Given the description of an element on the screen output the (x, y) to click on. 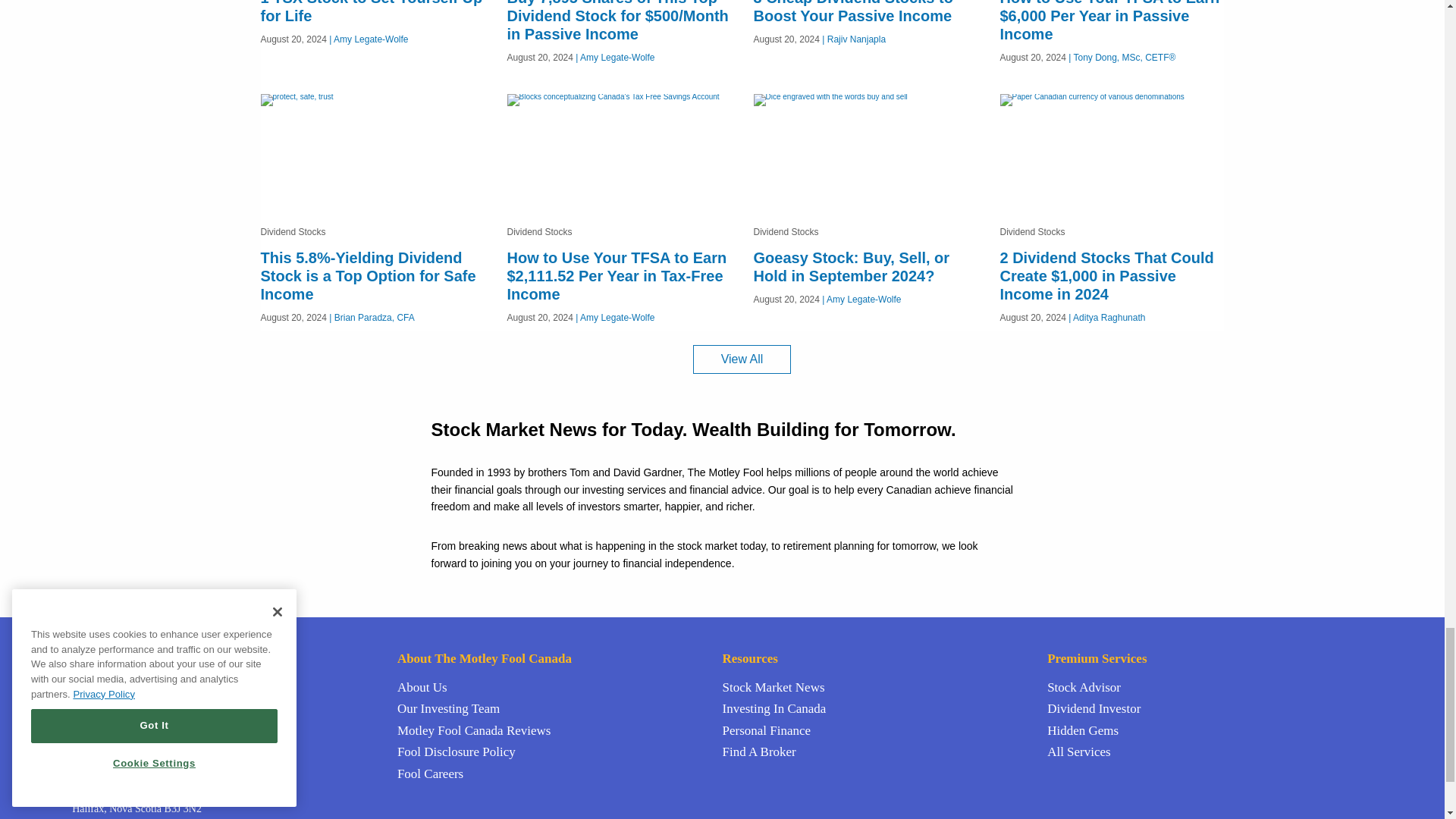
Follow us on Twitter (80, 749)
Like us on Facebook (99, 749)
Follow us on Google News (135, 749)
Subscribe to our feed (118, 749)
